Given the description of an element on the screen output the (x, y) to click on. 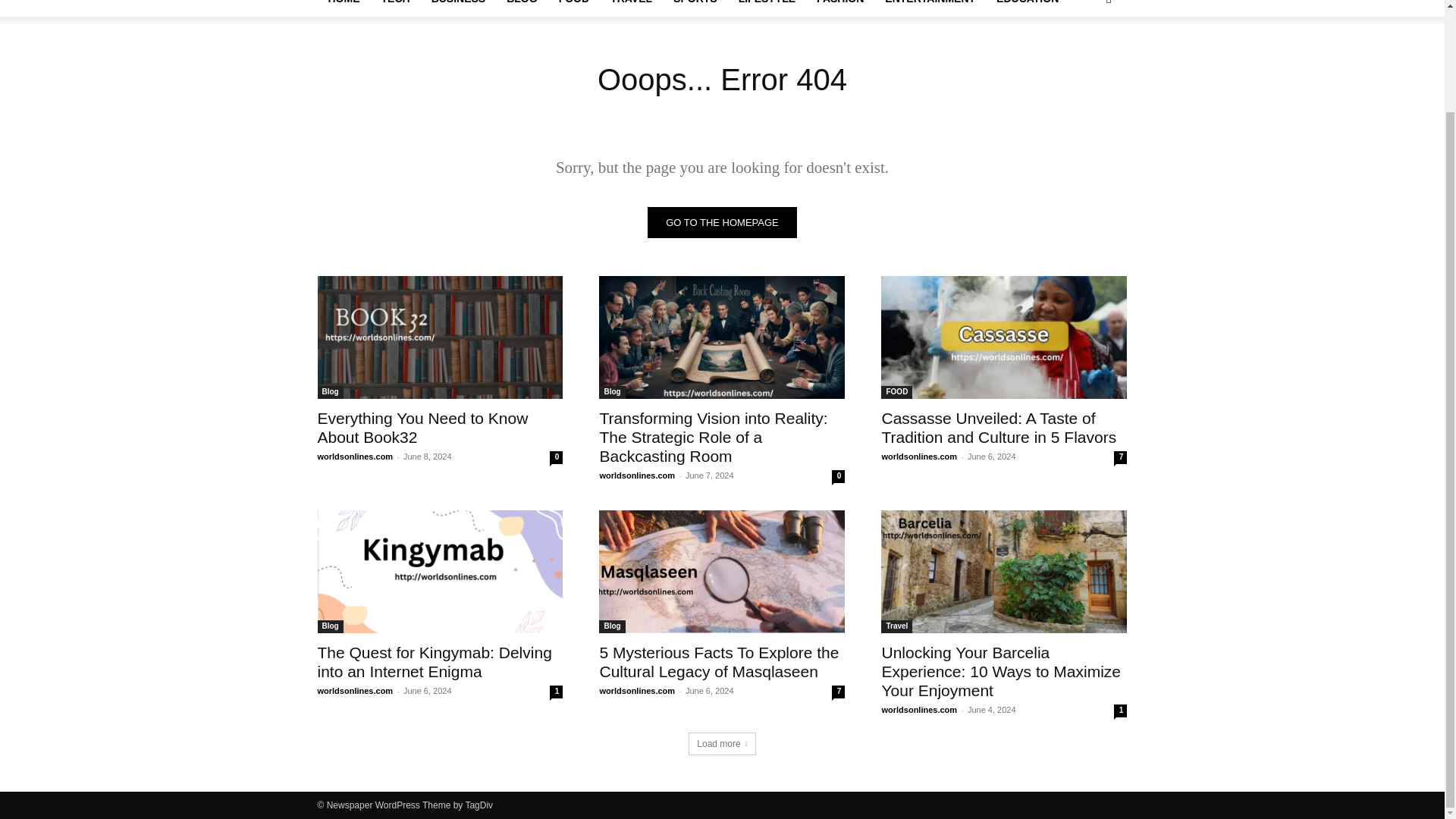
FOOD (573, 8)
SPORTS (695, 8)
TECH (394, 8)
The Quest for Kingymab: Delving into an Internet Enigma (439, 571)
worldsonlines.com (355, 456)
LIFESTYLE (767, 8)
ENTERTAINMENT (930, 8)
Everything You Need to Know About Book32 (422, 427)
The Quest for Kingymab: Delving into an Internet Enigma (434, 661)
Everything You Need to Know About Book32 (422, 427)
BLOG (521, 8)
